Given the description of an element on the screen output the (x, y) to click on. 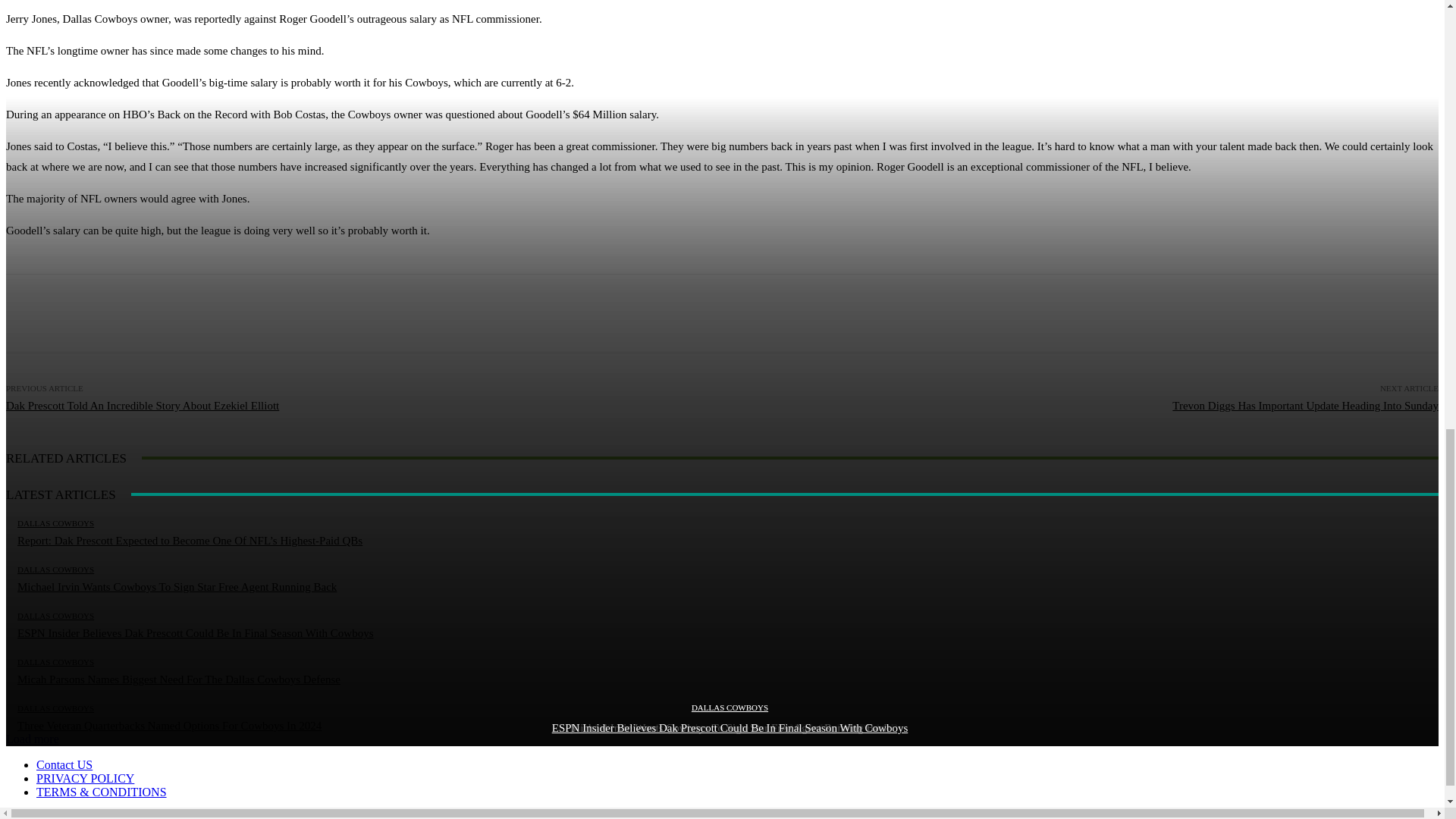
DALLAS COWBOYS (729, 706)
Dak Prescott Told An Incredible Story About Ezekiel Elliott (142, 405)
Trevon Diggs Has Important Update Heading Into Sunday (1305, 405)
